Given the description of an element on the screen output the (x, y) to click on. 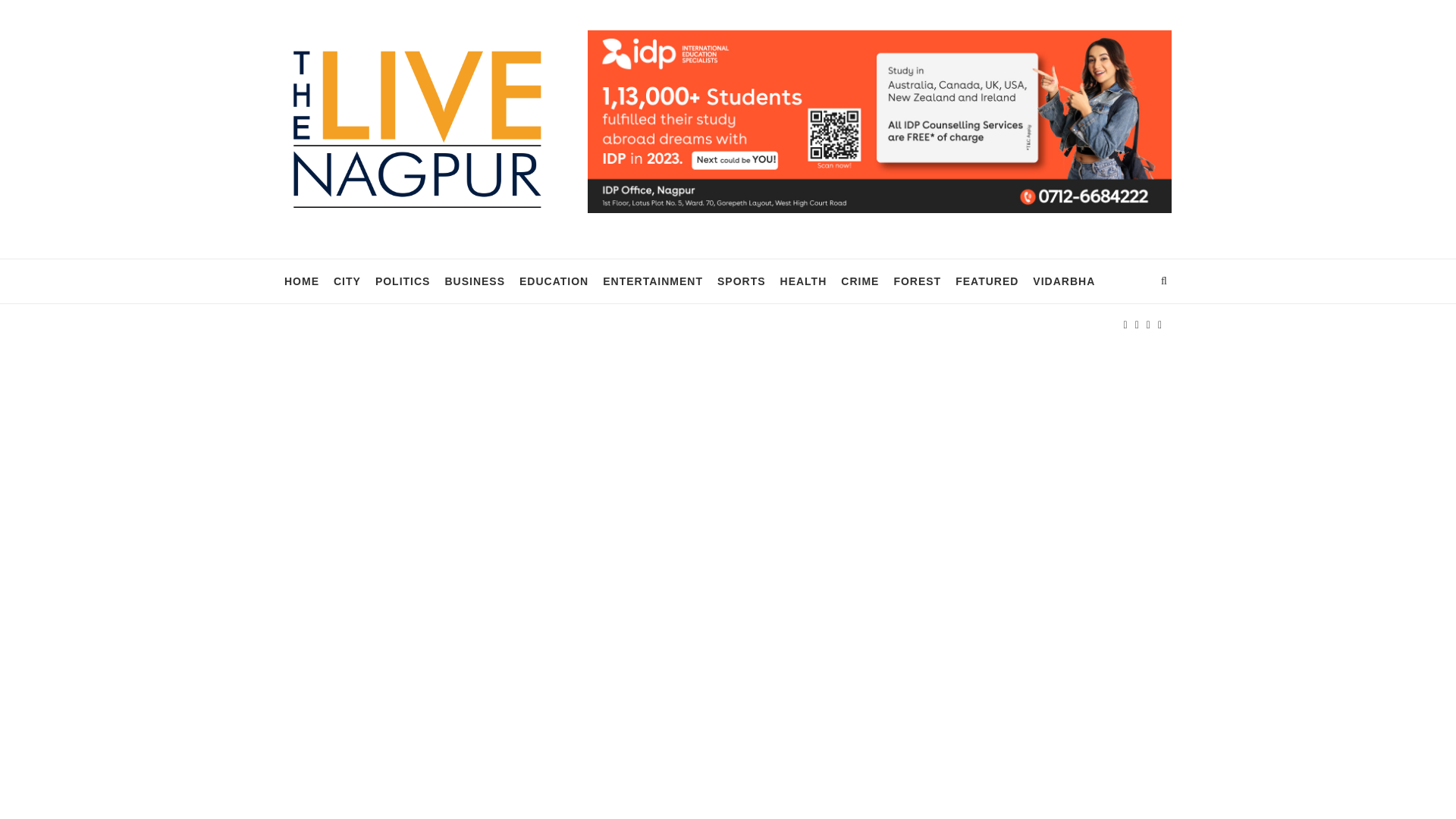
EDUCATION (553, 281)
FOREST (916, 281)
FEATURED (986, 281)
VIDARBHA (1063, 281)
BUSINESS (474, 281)
HEALTH (803, 281)
POLITICS (402, 281)
ENTERTAINMENT (652, 281)
SPORTS (741, 281)
